Given the description of an element on the screen output the (x, y) to click on. 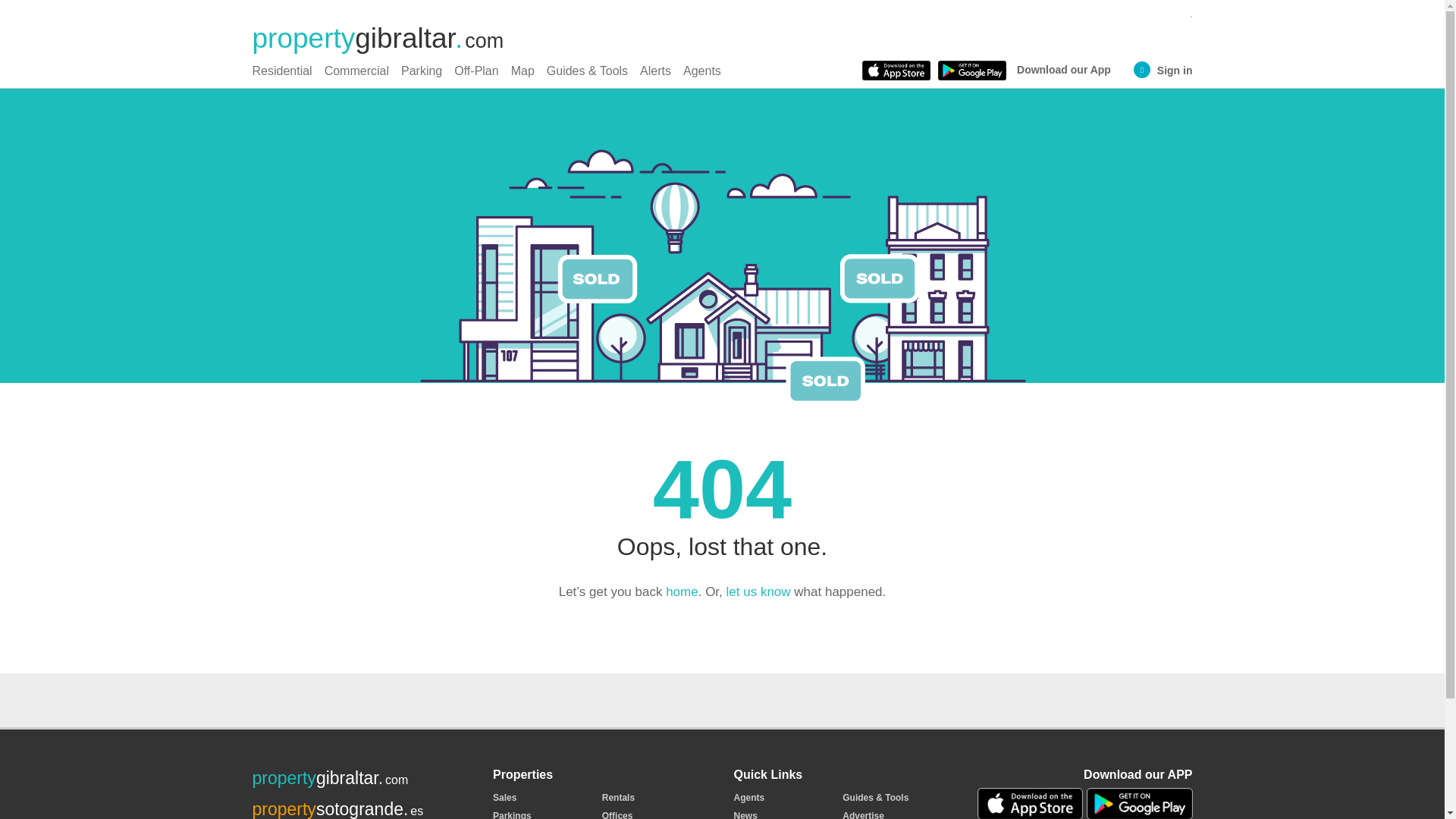
Property Sotogrande (337, 809)
Back to Home (681, 591)
Sales (504, 797)
Off-Plan (475, 74)
Offices (617, 814)
propertygibraltar.com (377, 38)
Residential (281, 74)
Agents (701, 74)
Commercial (356, 74)
